Given the description of an element on the screen output the (x, y) to click on. 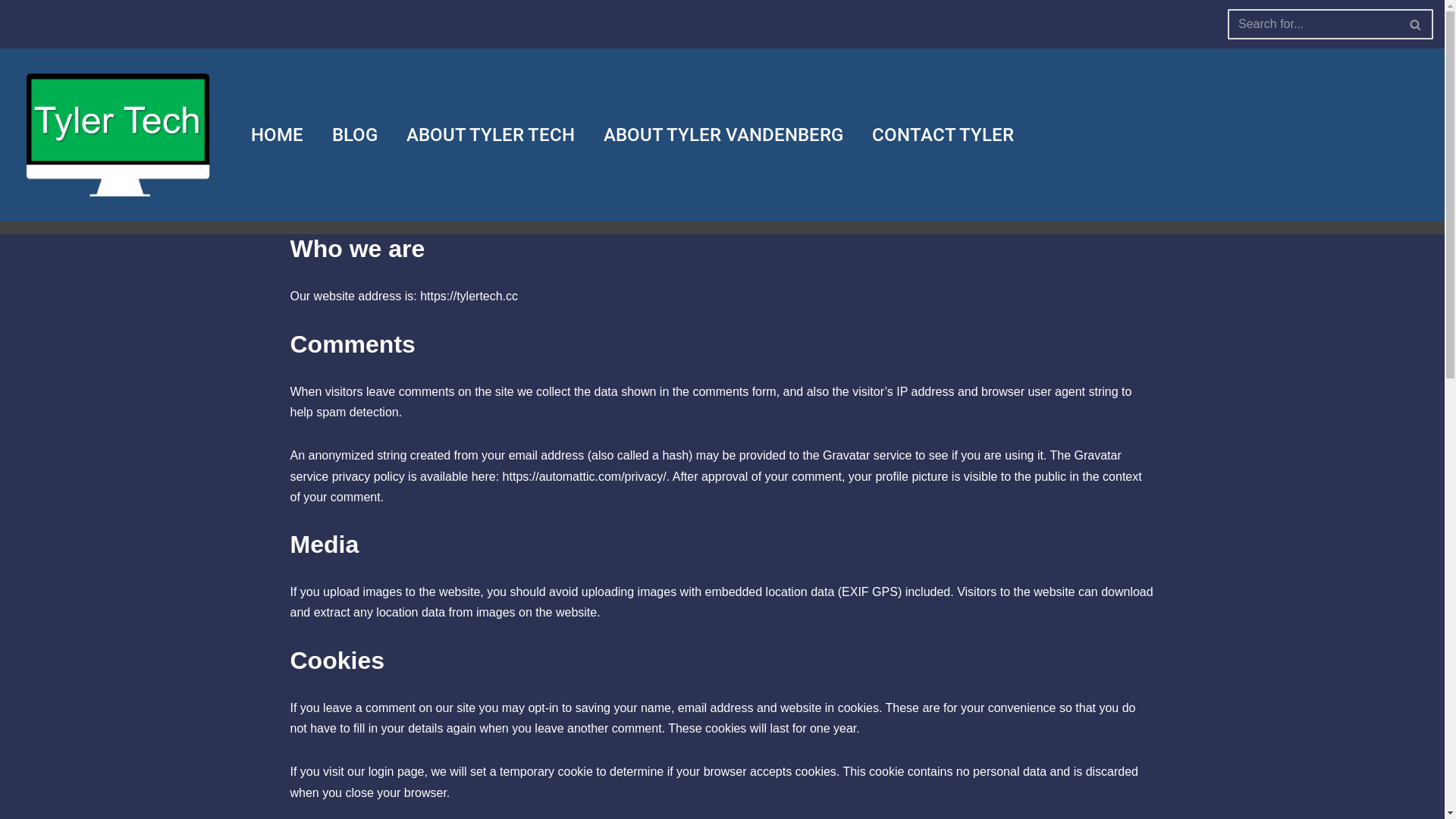
Skip to content Element type: text (11, 31)
HOME Element type: text (277, 134)
CONTACT TYLER Element type: text (942, 134)
ABOUT TYLER VANDENBERG Element type: text (723, 134)
ABOUT TYLER TECH Element type: text (490, 134)
BLOG Element type: text (354, 134)
